Given the description of an element on the screen output the (x, y) to click on. 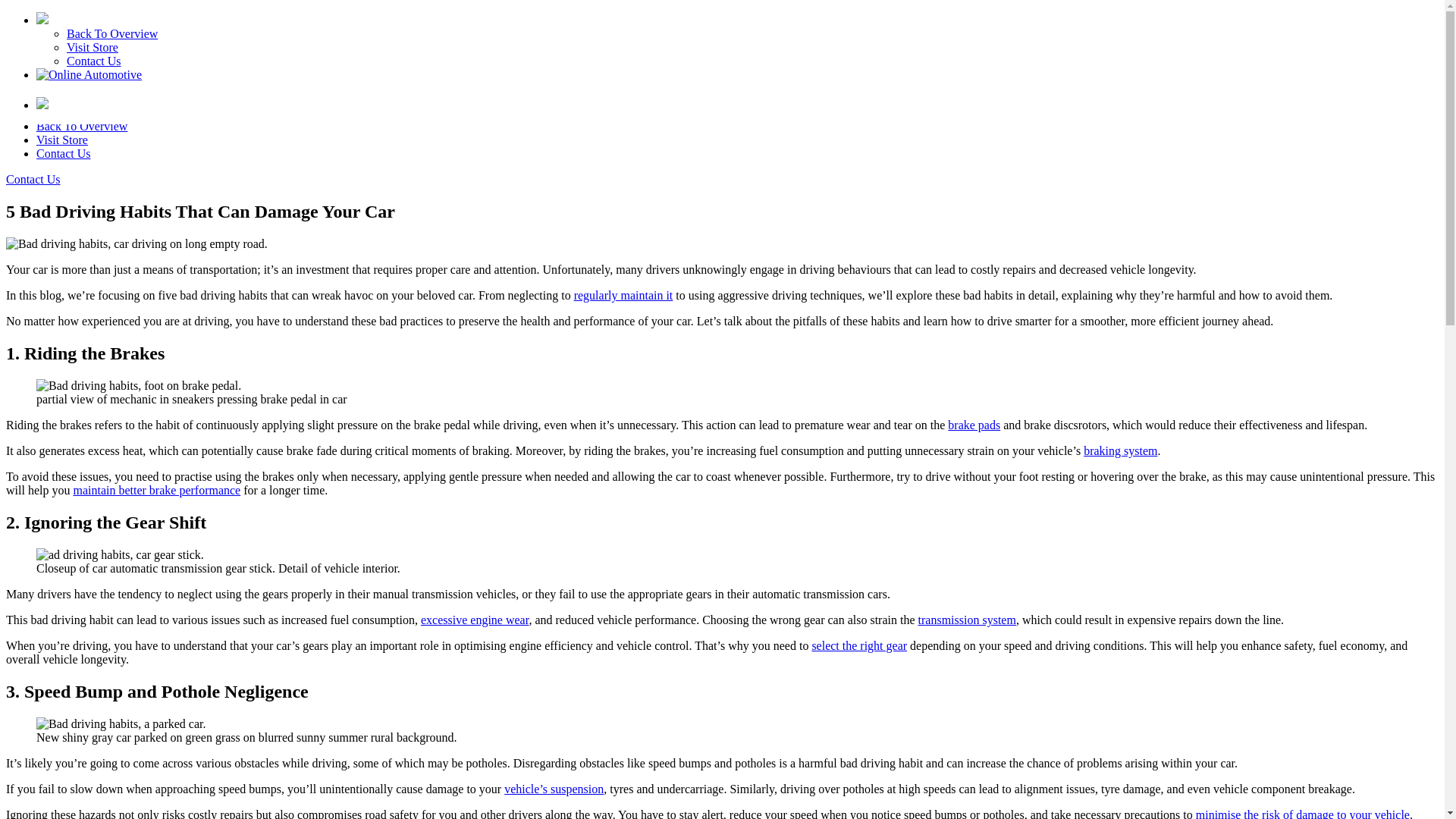
Back To Overview (111, 33)
Back To Overview (82, 125)
transmission system (967, 619)
select the right gear (858, 645)
Visit Store (61, 139)
braking system (1120, 450)
Visit Store (91, 47)
minimise the risk of damage to your vehicle (1302, 813)
excessive engine wear (474, 619)
maintain better brake performance (156, 490)
Contact Us (93, 60)
Contact Us (63, 153)
brake pads (973, 424)
Contact Us (33, 178)
regularly maintain it (622, 295)
